Given the description of an element on the screen output the (x, y) to click on. 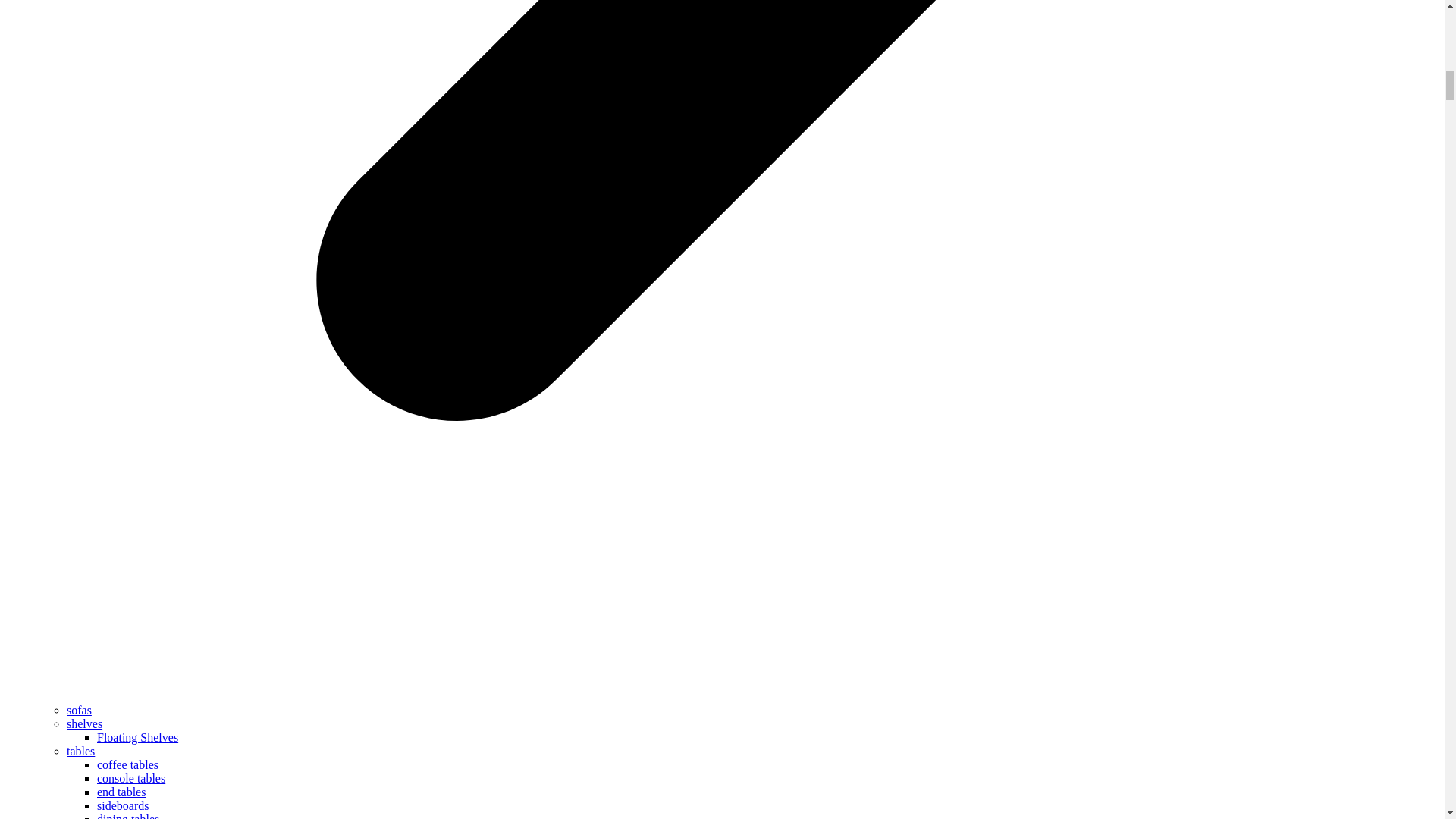
tables (80, 750)
sideboards (122, 805)
dining tables (127, 816)
end tables (121, 791)
sofas (78, 709)
shelves (83, 723)
coffee tables (127, 764)
console tables (131, 778)
Floating Shelves (137, 737)
